Given the description of an element on the screen output the (x, y) to click on. 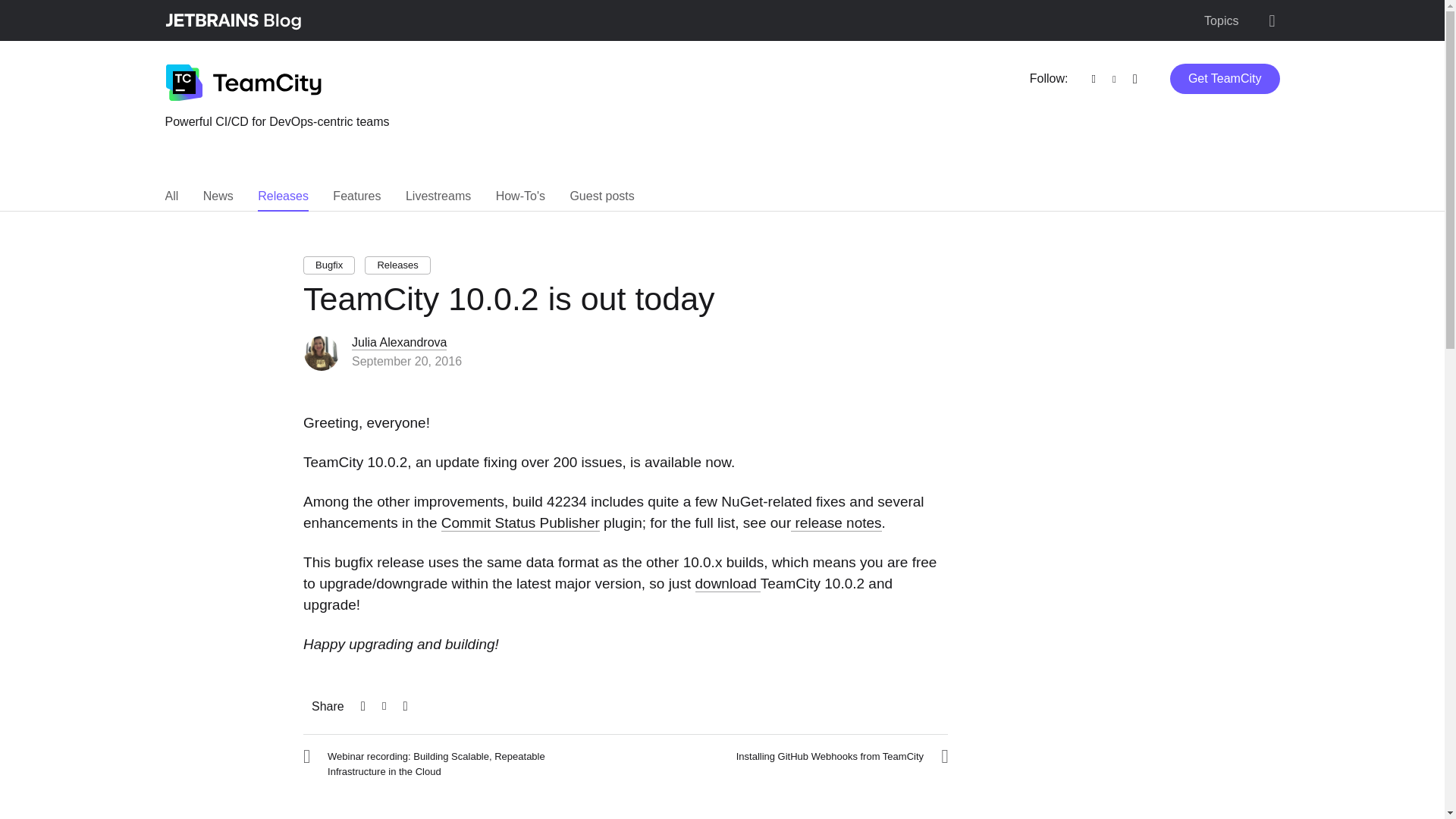
Search (1271, 21)
Topics (1221, 21)
